Given the description of an element on the screen output the (x, y) to click on. 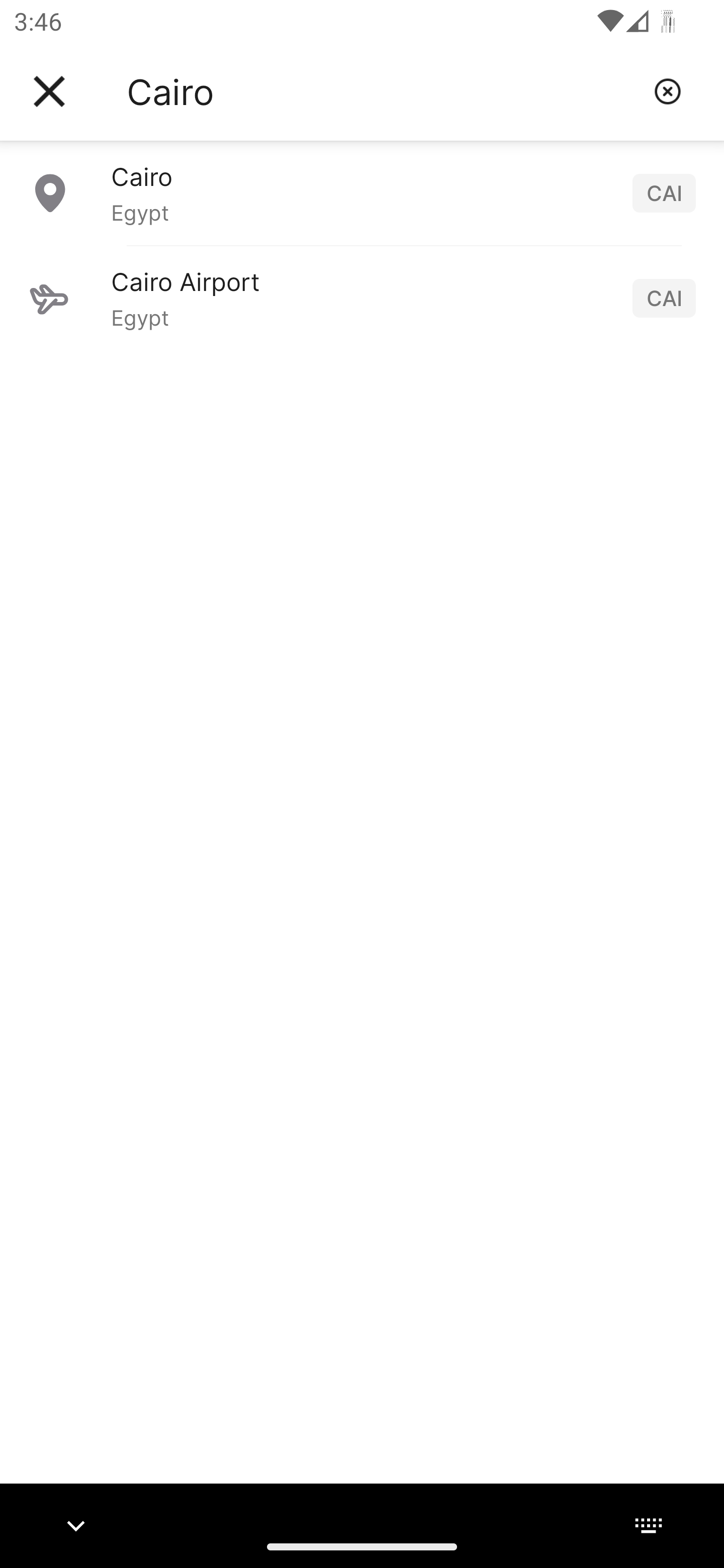
Cairo (382, 91)
Cairo Egypt CAI (362, 192)
Cairo Airport Egypt CAI (362, 297)
